Given the description of an element on the screen output the (x, y) to click on. 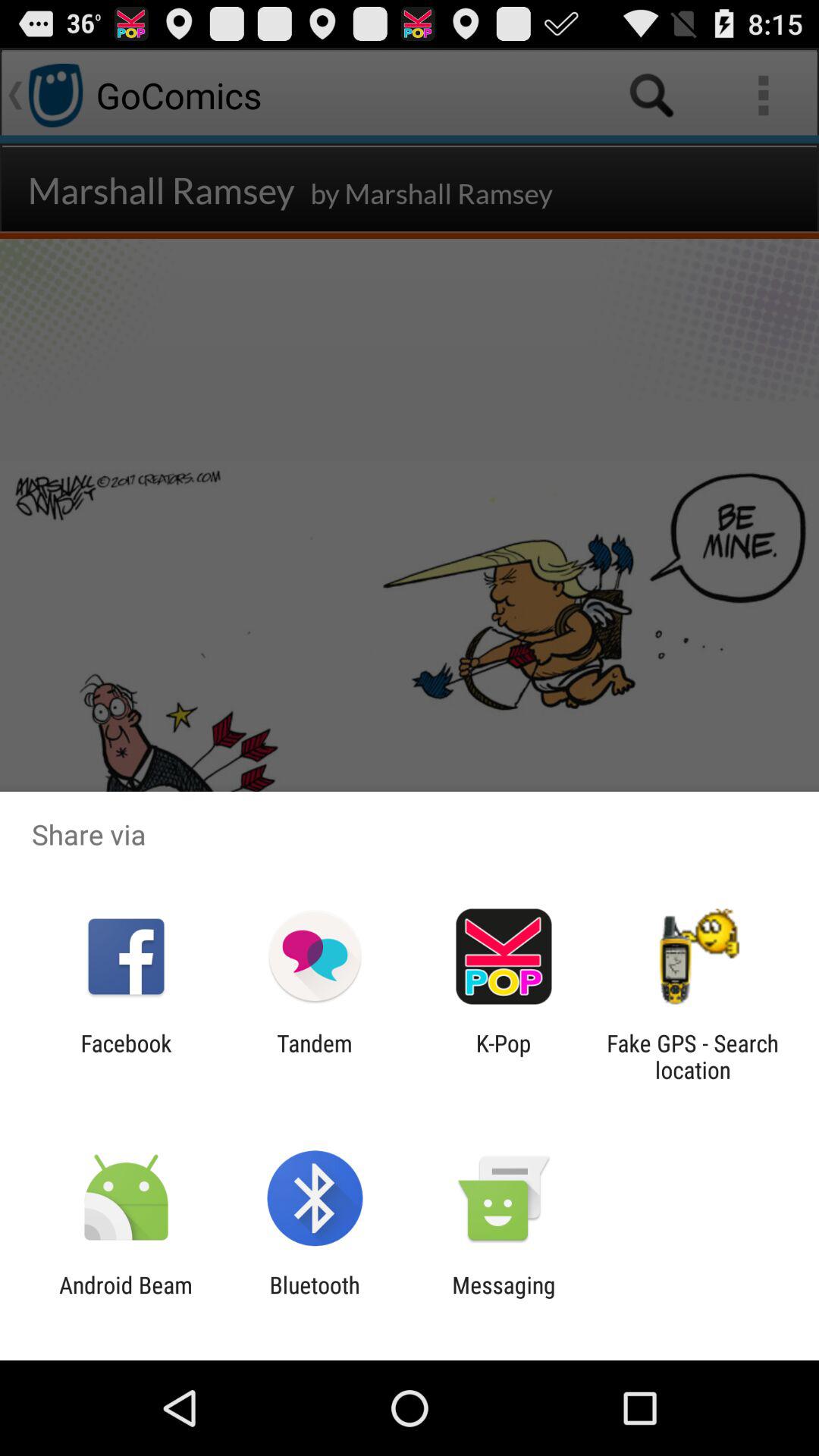
turn on item next to bluetooth icon (125, 1298)
